Given the description of an element on the screen output the (x, y) to click on. 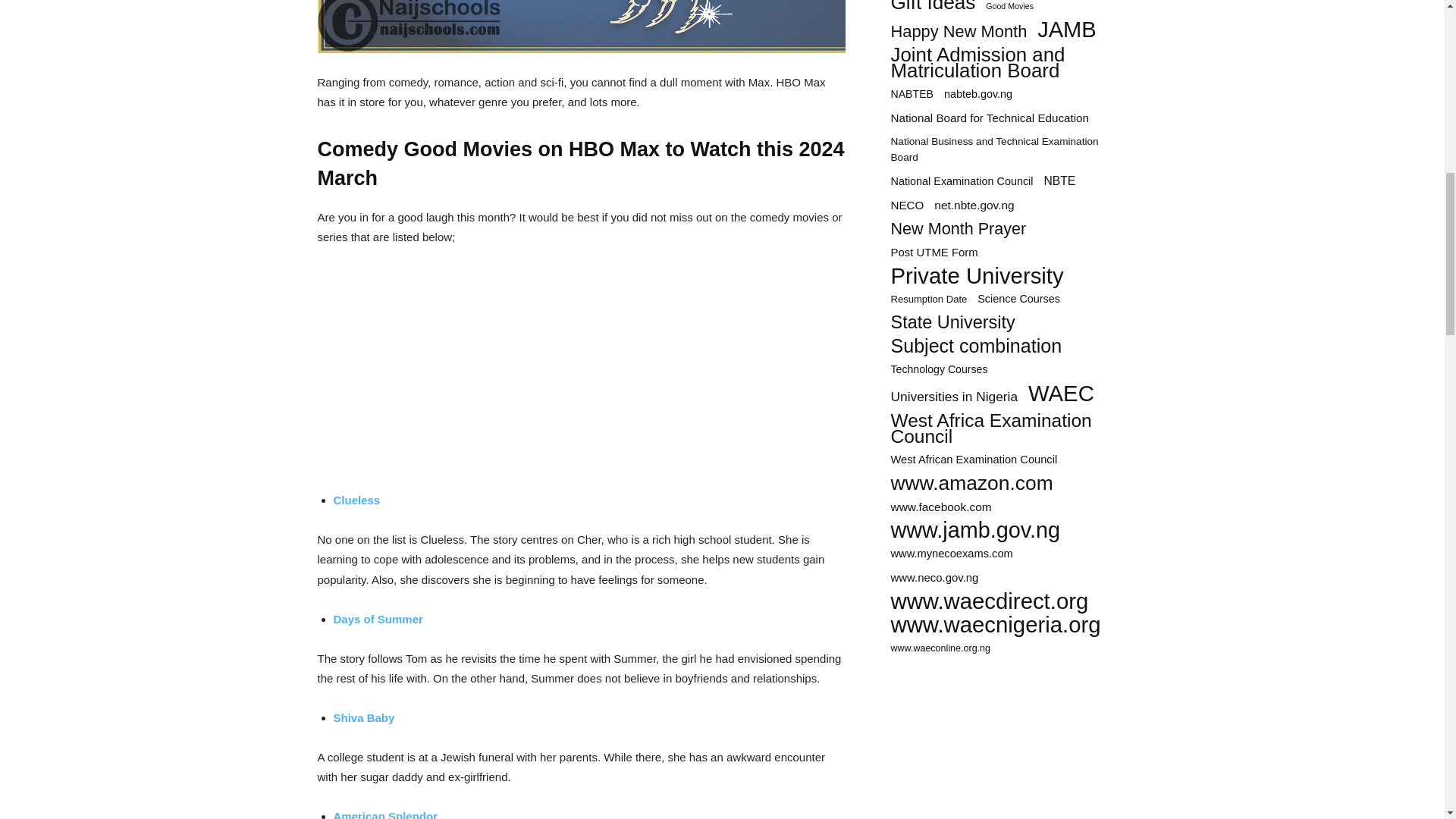
Advertisement (1003, 745)
Advertisement (580, 372)
